Given the description of an element on the screen output the (x, y) to click on. 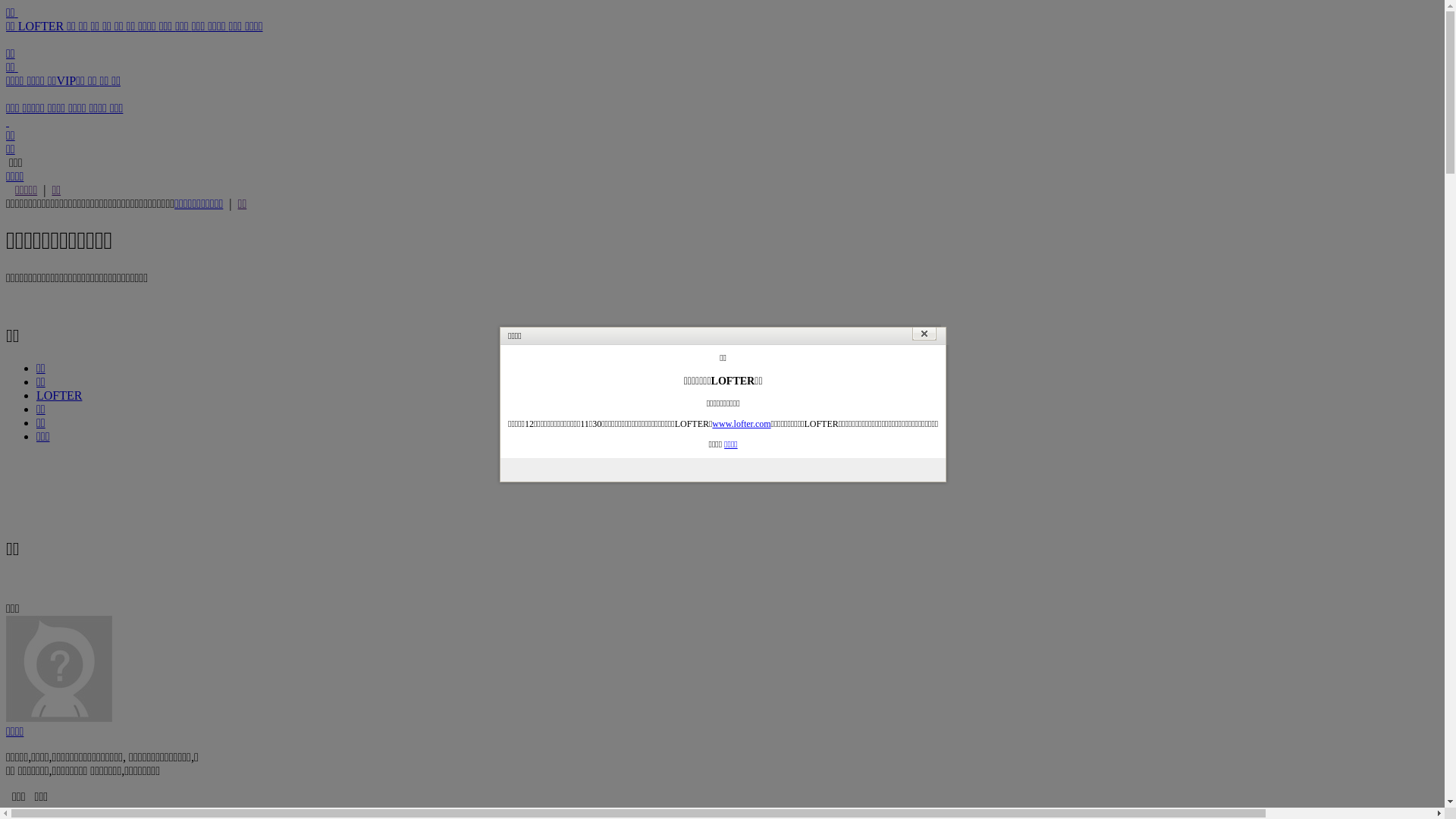
LOFTER Element type: text (58, 395)
  Element type: text (7, 121)
LOFTER Element type: text (42, 25)
www.lofter.com Element type: text (741, 423)
